Given the description of an element on the screen output the (x, y) to click on. 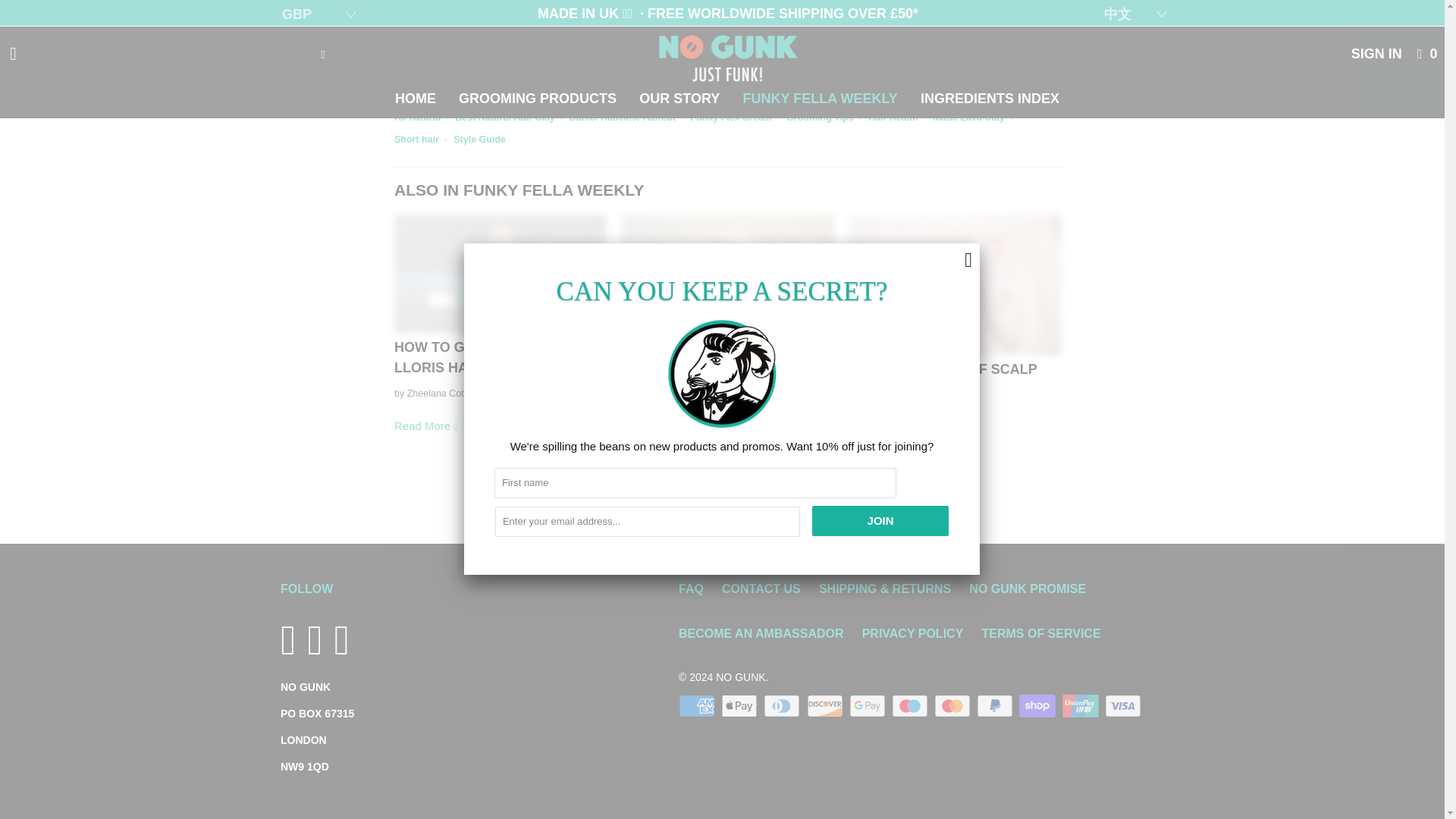
Mastercard (954, 705)
Shop Pay (1038, 705)
Maestro (911, 705)
PayPal (996, 705)
Google Pay (868, 705)
American Express (697, 705)
Diners Club (782, 705)
Union Pay (1082, 705)
Apple Pay (740, 705)
Discover (825, 705)
Visa (1124, 705)
